Given the description of an element on the screen output the (x, y) to click on. 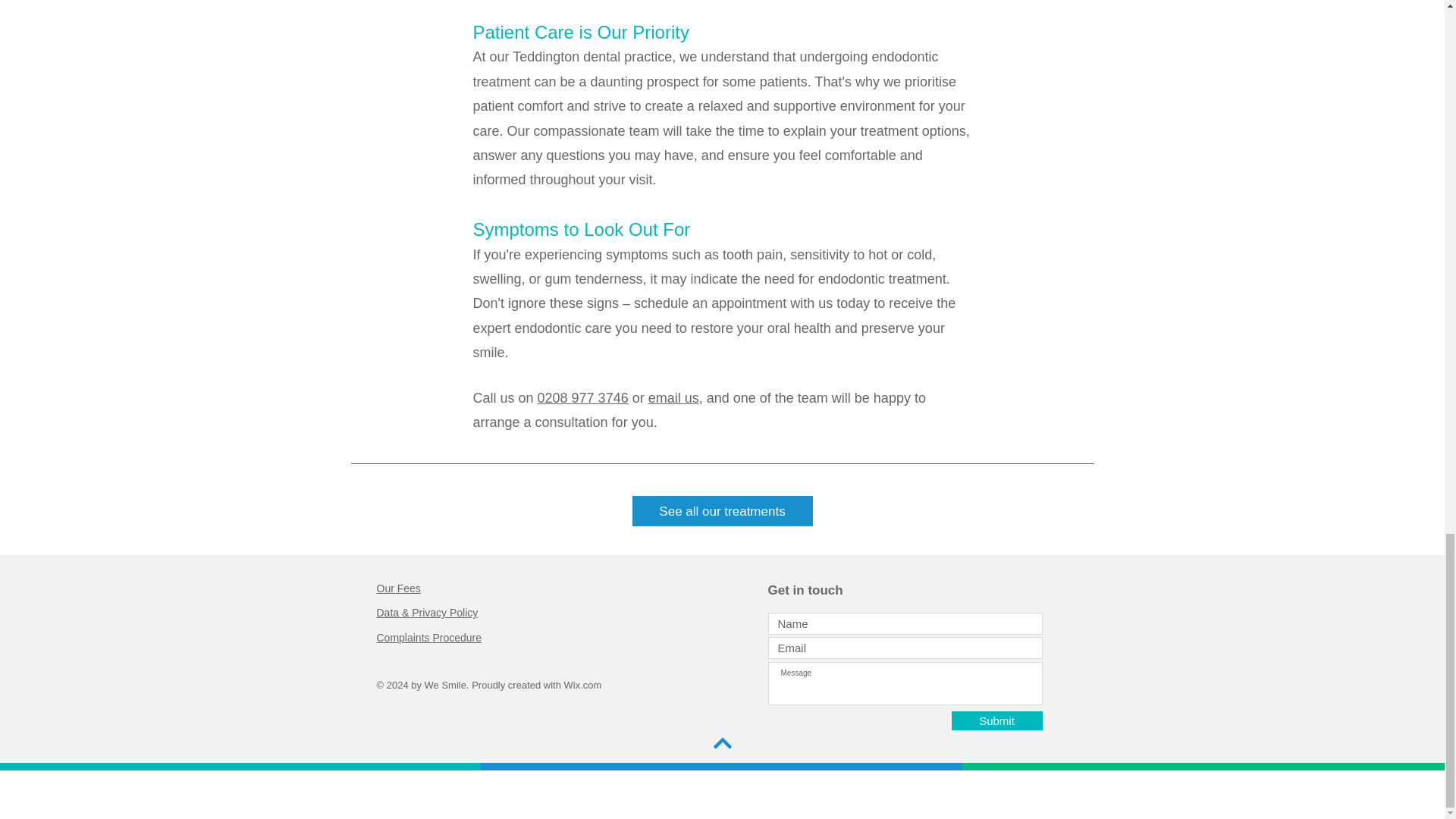
Complaints Procedure (428, 637)
Submit (996, 720)
Our Fees (397, 588)
See all our treatments (721, 511)
Wix.com (583, 685)
